Given the description of an element on the screen output the (x, y) to click on. 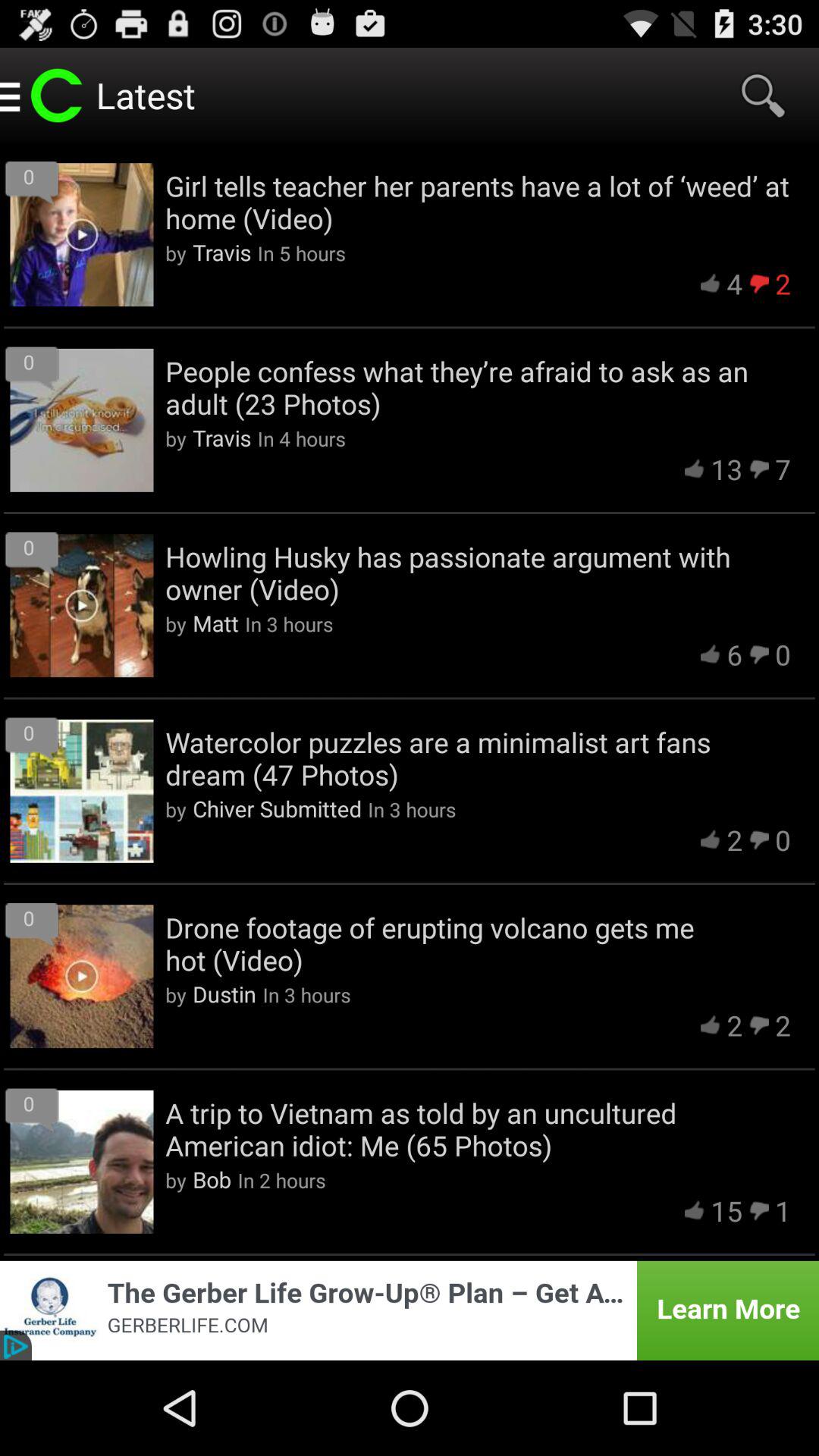
turn on the watercolor puzzles are icon (478, 758)
